Given the description of an element on the screen output the (x, y) to click on. 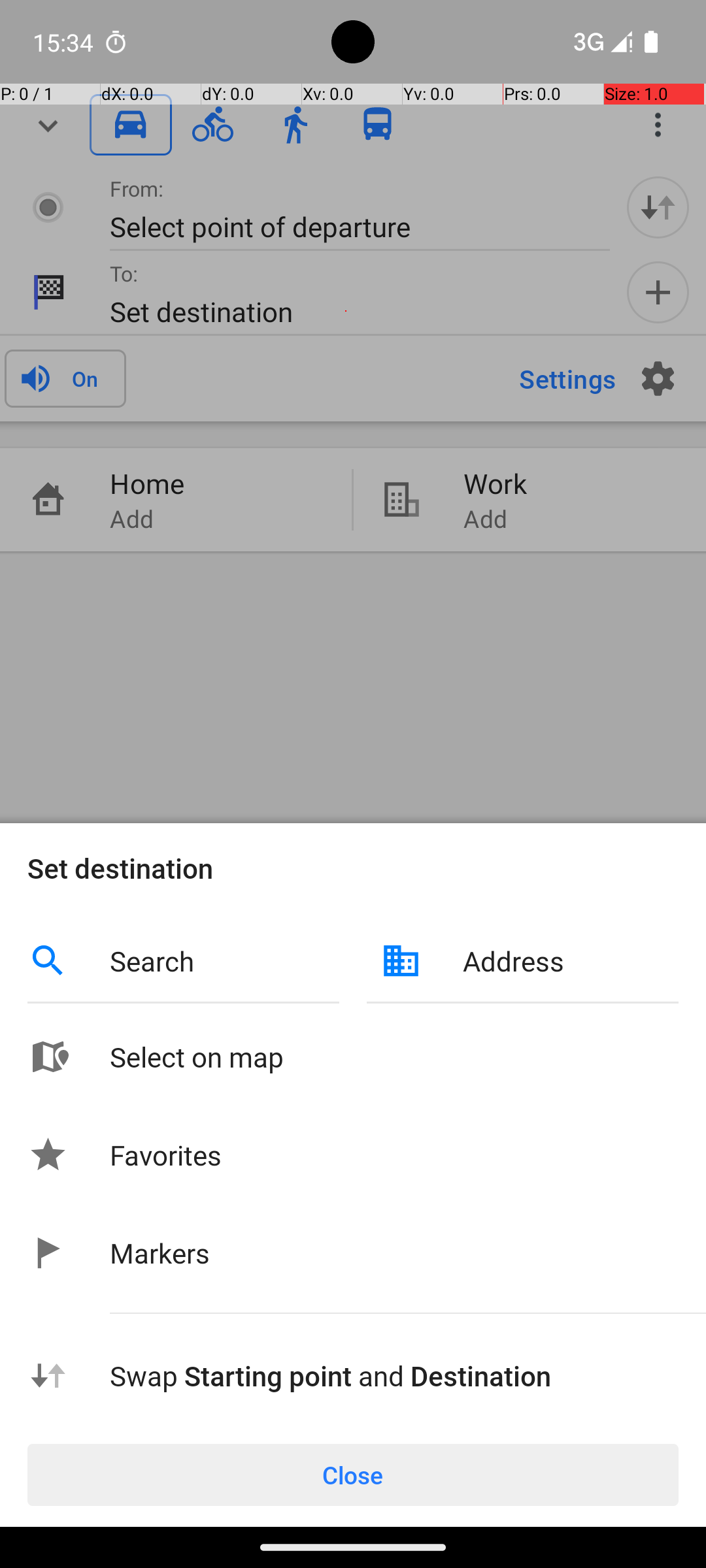
Select on map Element type: android.widget.TextView (393, 1056)
Swap Starting point and Destination Element type: android.widget.TextView (393, 1375)
